Given the description of an element on the screen output the (x, y) to click on. 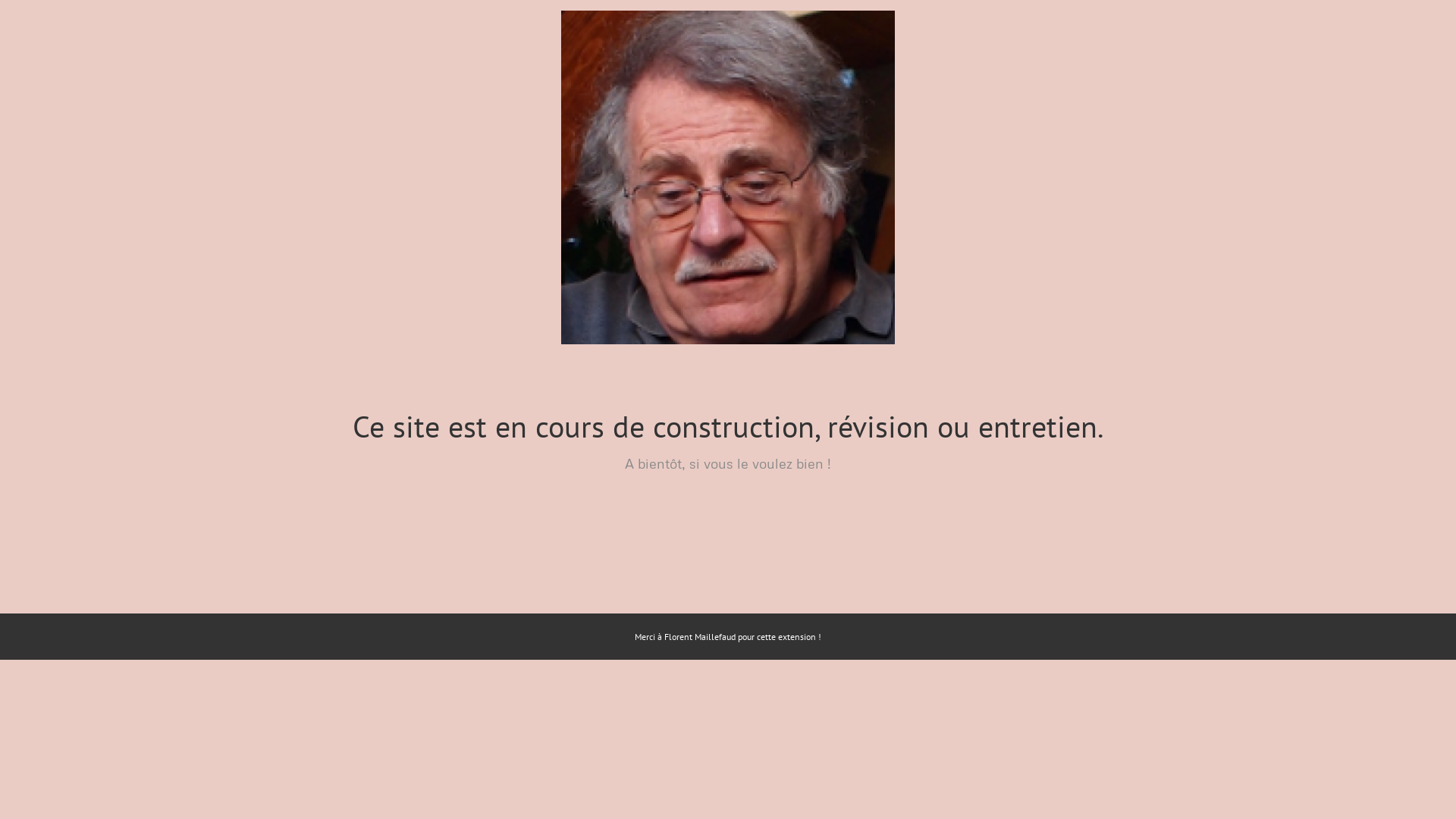
Blog personnel Dario CIPRUT Modestie avant toute chose Element type: hover (727, 177)
